Given the description of an element on the screen output the (x, y) to click on. 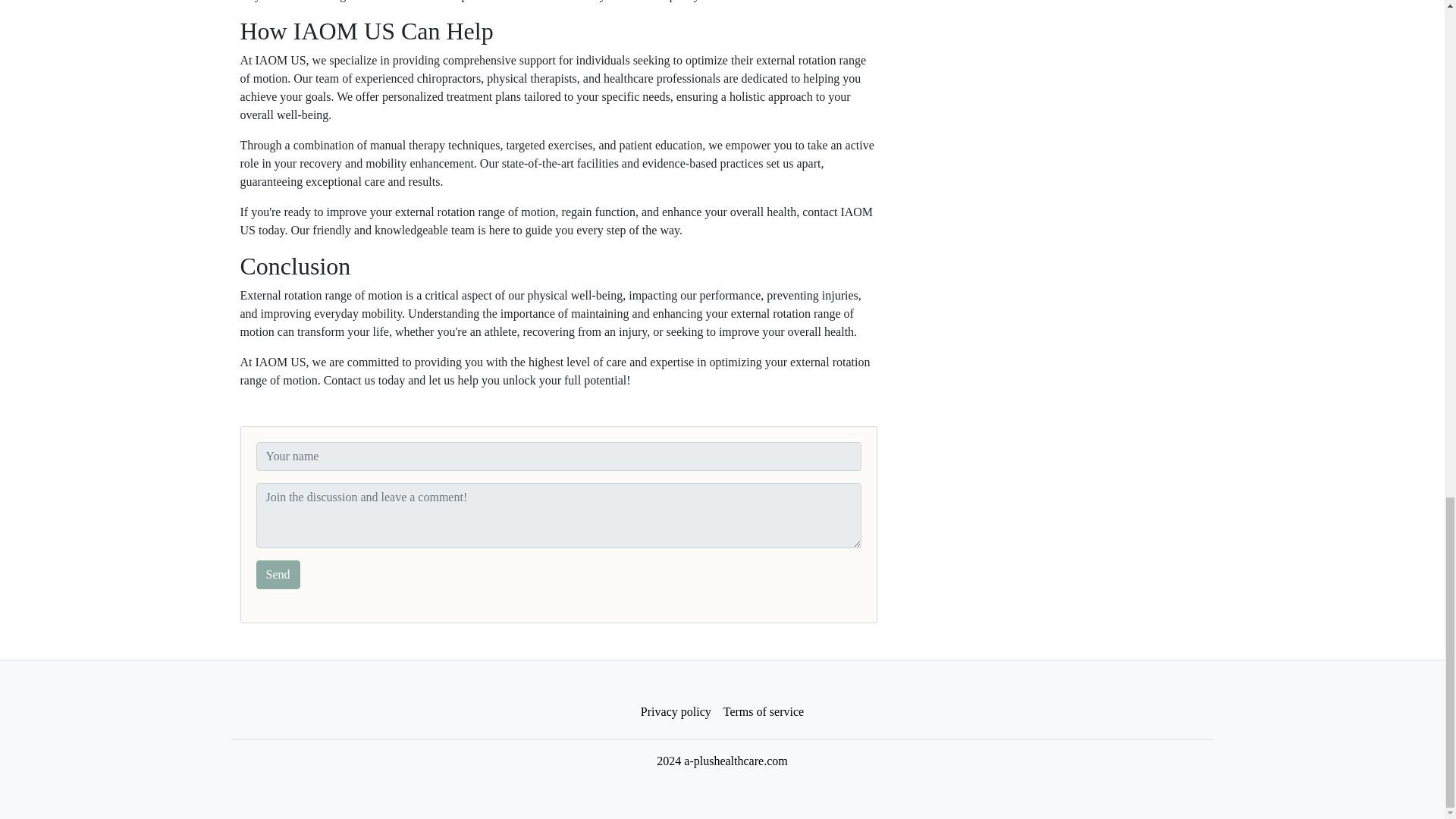
Send (277, 574)
Send (277, 574)
Privacy policy (675, 711)
Terms of service (763, 711)
